Given the description of an element on the screen output the (x, y) to click on. 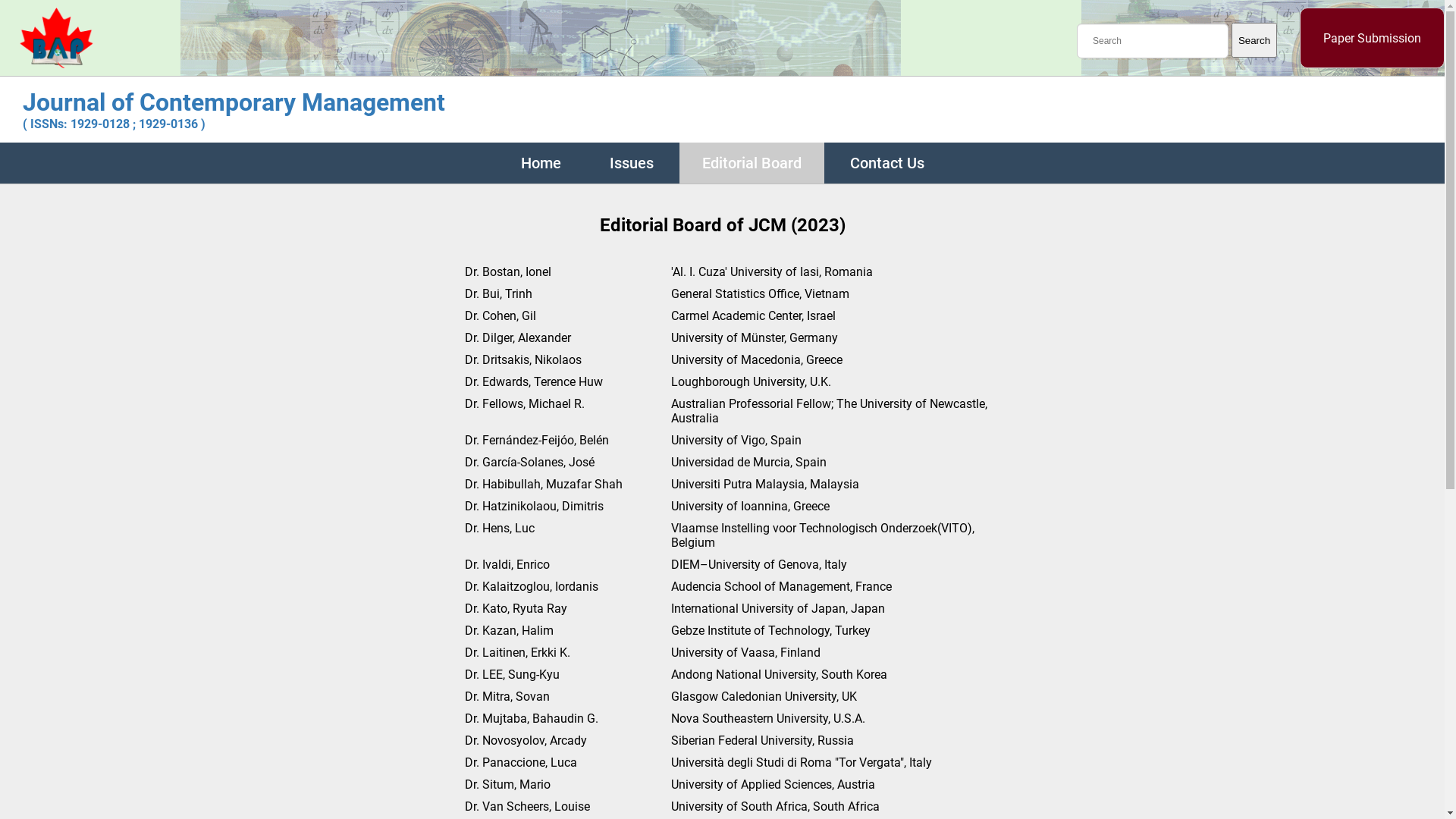
Editorial Board Element type: text (751, 163)
Search Element type: text (1254, 39)
Issues Element type: text (631, 163)
BAP Element type: hover (55, 63)
BAP Element type: hover (55, 37)
Home Element type: text (540, 163)
Contact Us Element type: text (886, 163)
